Given the description of an element on the screen output the (x, y) to click on. 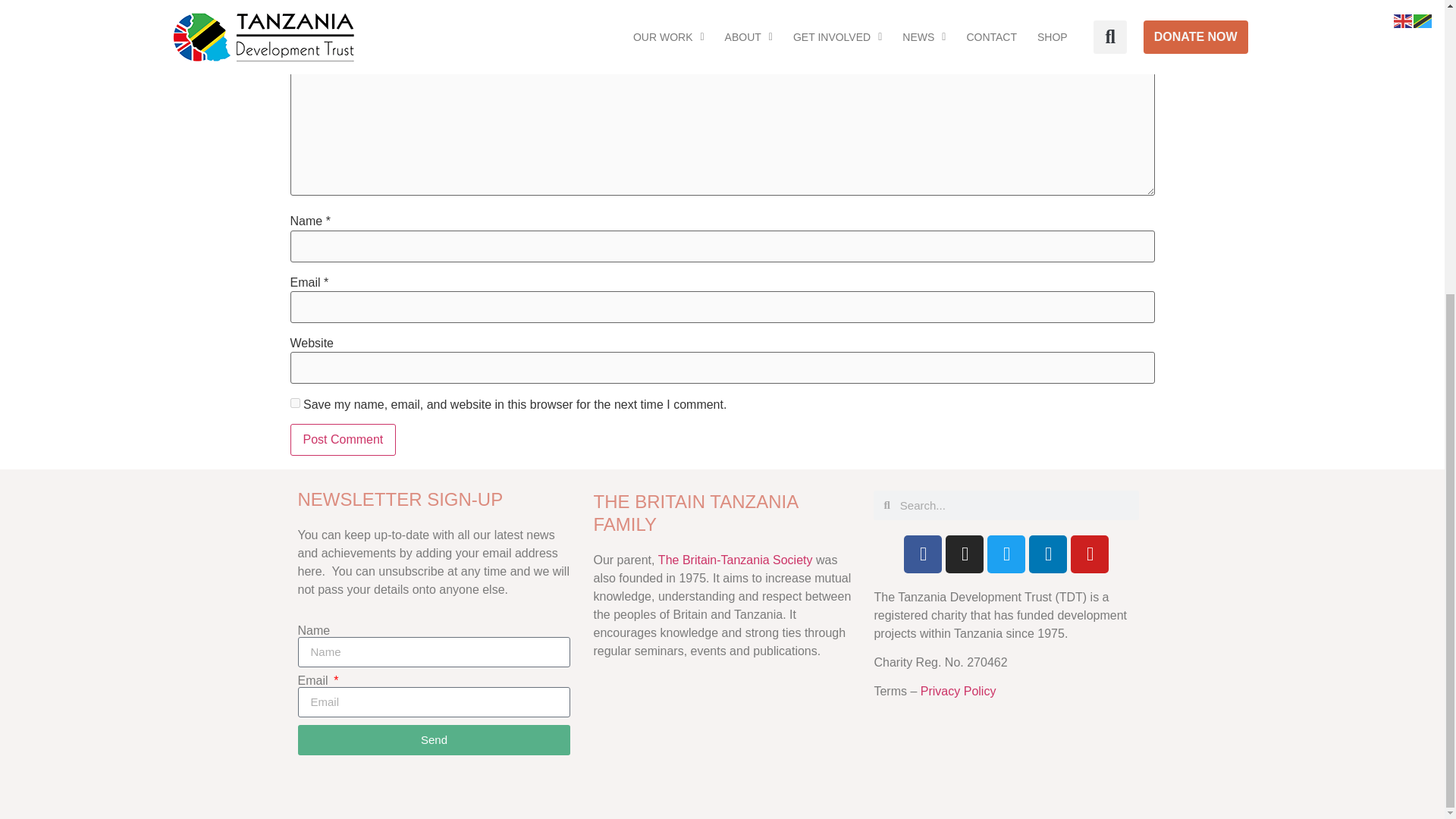
yes (294, 402)
Post Comment (342, 439)
